Given the description of an element on the screen output the (x, y) to click on. 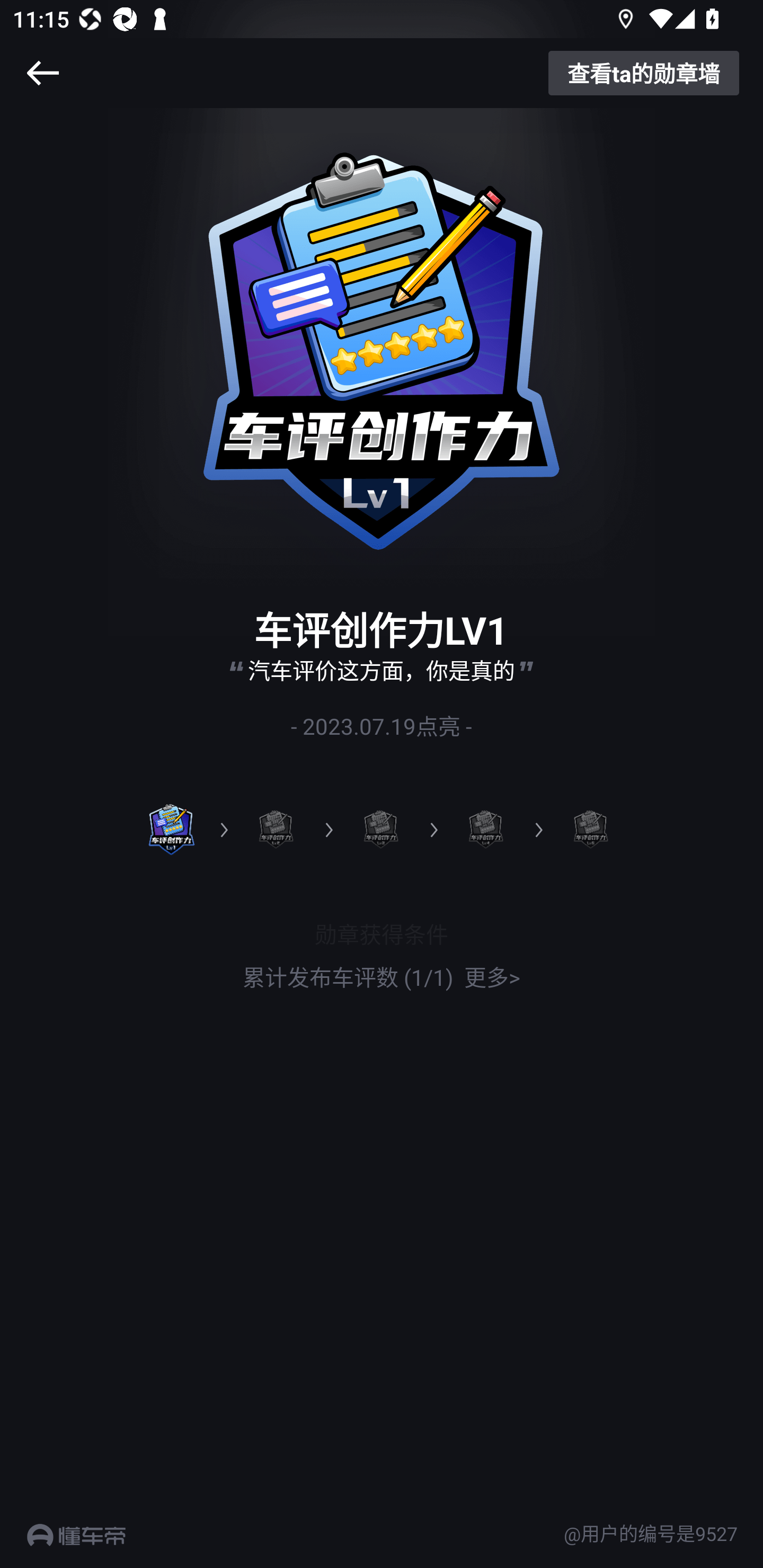
查看ta的勋章墙 (643, 72)
 (42, 72)
勋章获得条件 (381, 933)
累计发布车评数 (1/1)  更多> (381, 977)
